Given the description of an element on the screen output the (x, y) to click on. 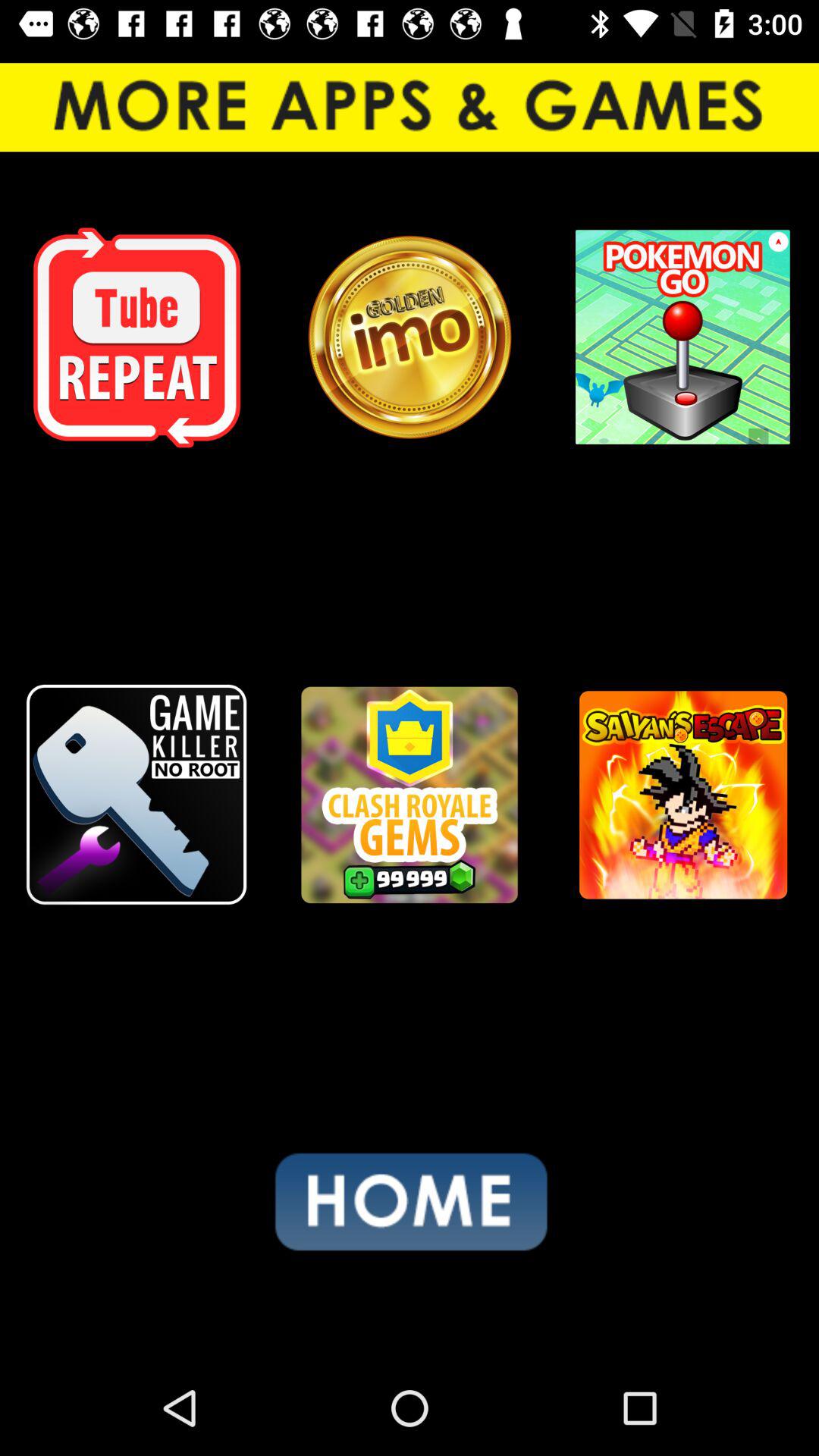
select app (136, 337)
